Given the description of an element on the screen output the (x, y) to click on. 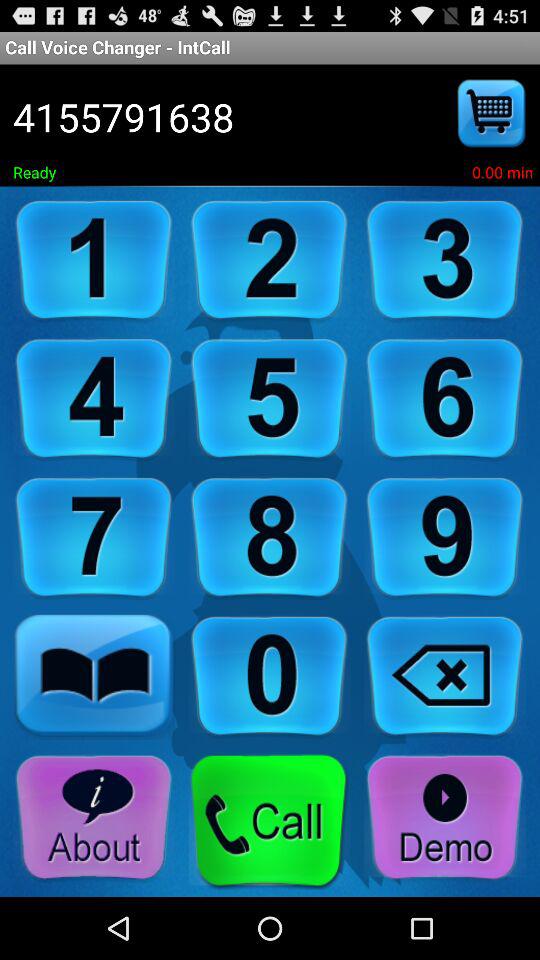
call option (269, 821)
